Given the description of an element on the screen output the (x, y) to click on. 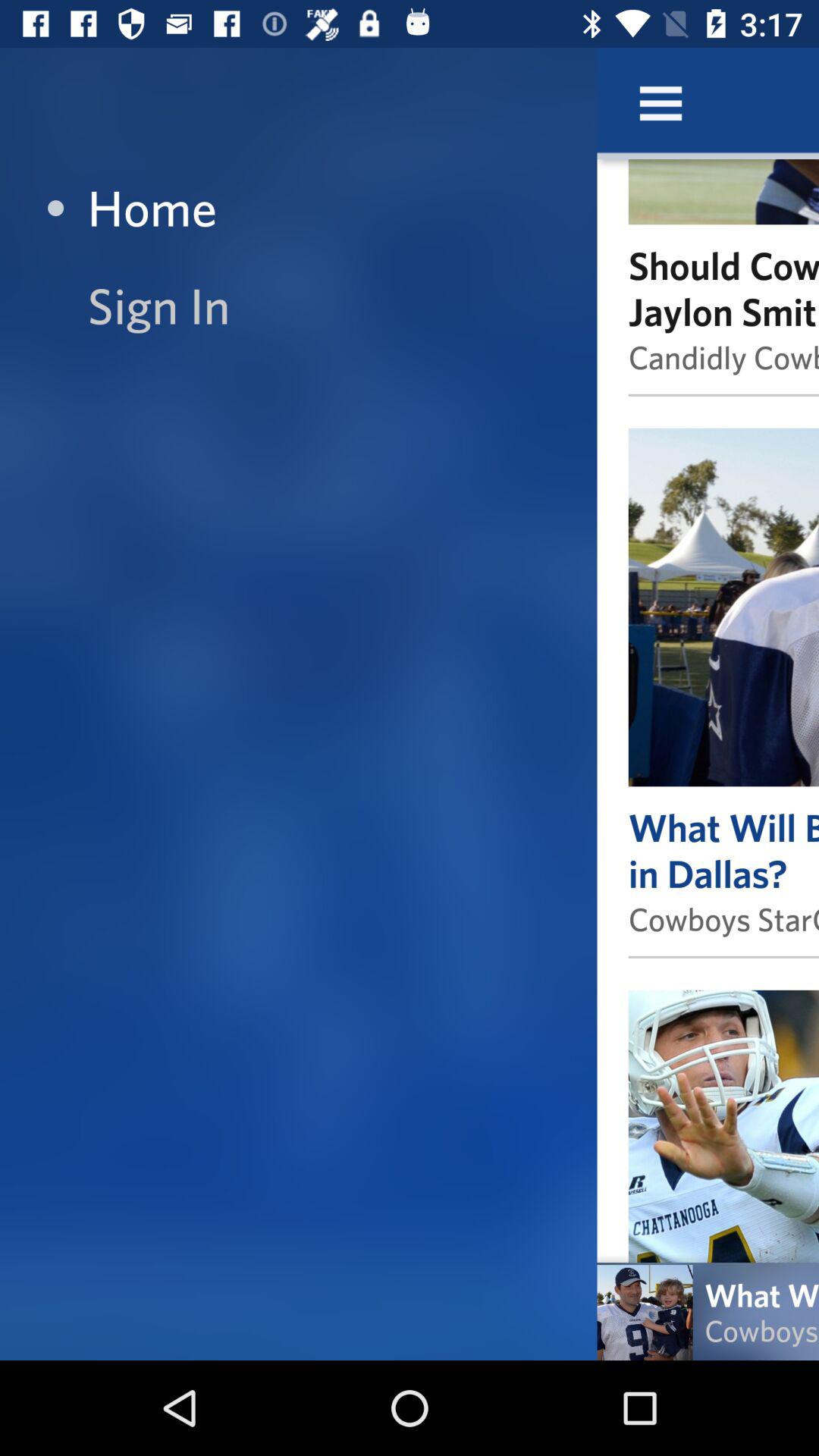
drop down list (660, 103)
